Given the description of an element on the screen output the (x, y) to click on. 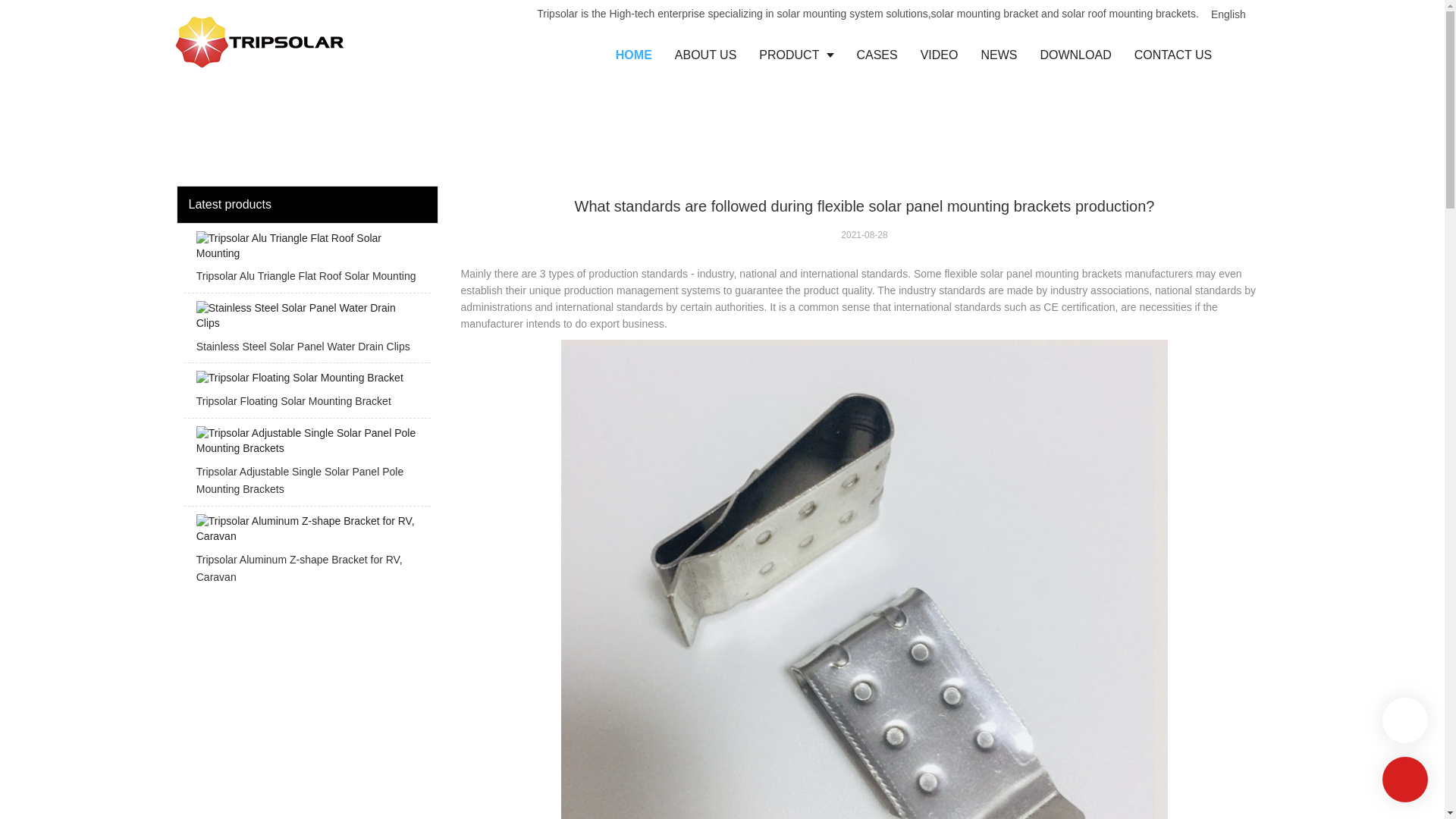
HOME (633, 55)
PRODUCT (796, 55)
Stainless Steel Solar Panel Water Drain Clips (306, 331)
NEWS (998, 55)
CONTACT US (1173, 55)
Tripsolar Floating Solar Mounting Bracket (306, 394)
Tripsolar Alu Triangle Flat Roof Solar Mounting (306, 261)
Tripsolar Aluminum Z-shape Bracket for RV, Caravan (306, 553)
VIDEO (938, 55)
